Given the description of an element on the screen output the (x, y) to click on. 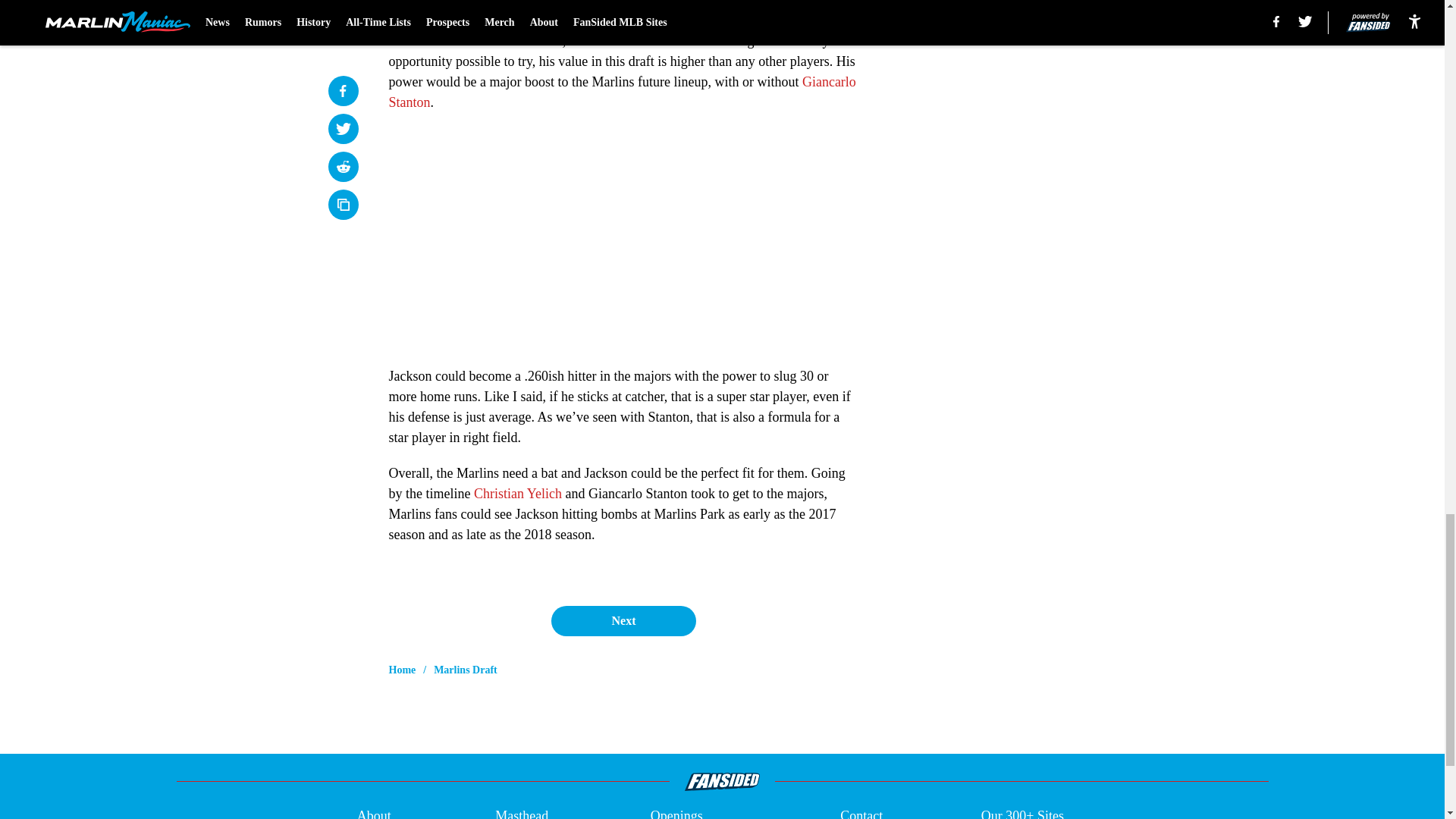
About (373, 812)
Masthead (521, 812)
Marlins Draft (465, 670)
Next (622, 621)
Contact (861, 812)
Giancarlo Stanton (622, 91)
Openings (676, 812)
Christian Yelich (518, 493)
Home (401, 670)
